Given the description of an element on the screen output the (x, y) to click on. 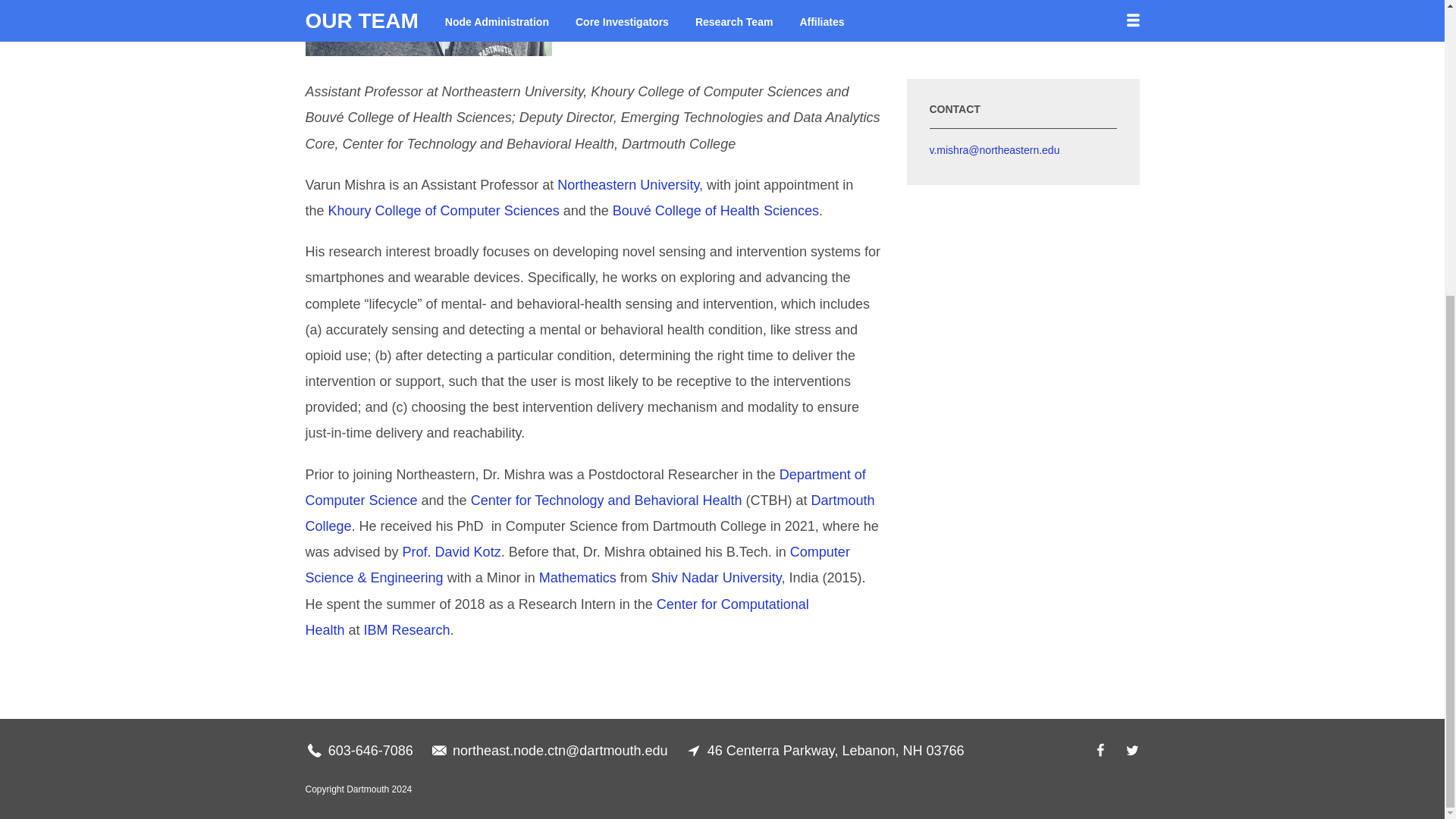
Department of Computer Science (584, 486)
Varun (427, 28)
IBM Research (406, 630)
Mathematics (576, 577)
Khoury College of Computer Sciences (444, 210)
Center for Technology and Behavioral Health (606, 500)
Dartmouth College (589, 513)
Center for Computational Health (556, 617)
Northeastern University (627, 184)
Prof. David Kotz (451, 551)
Shiv Nadar University (715, 577)
